Given the description of an element on the screen output the (x, y) to click on. 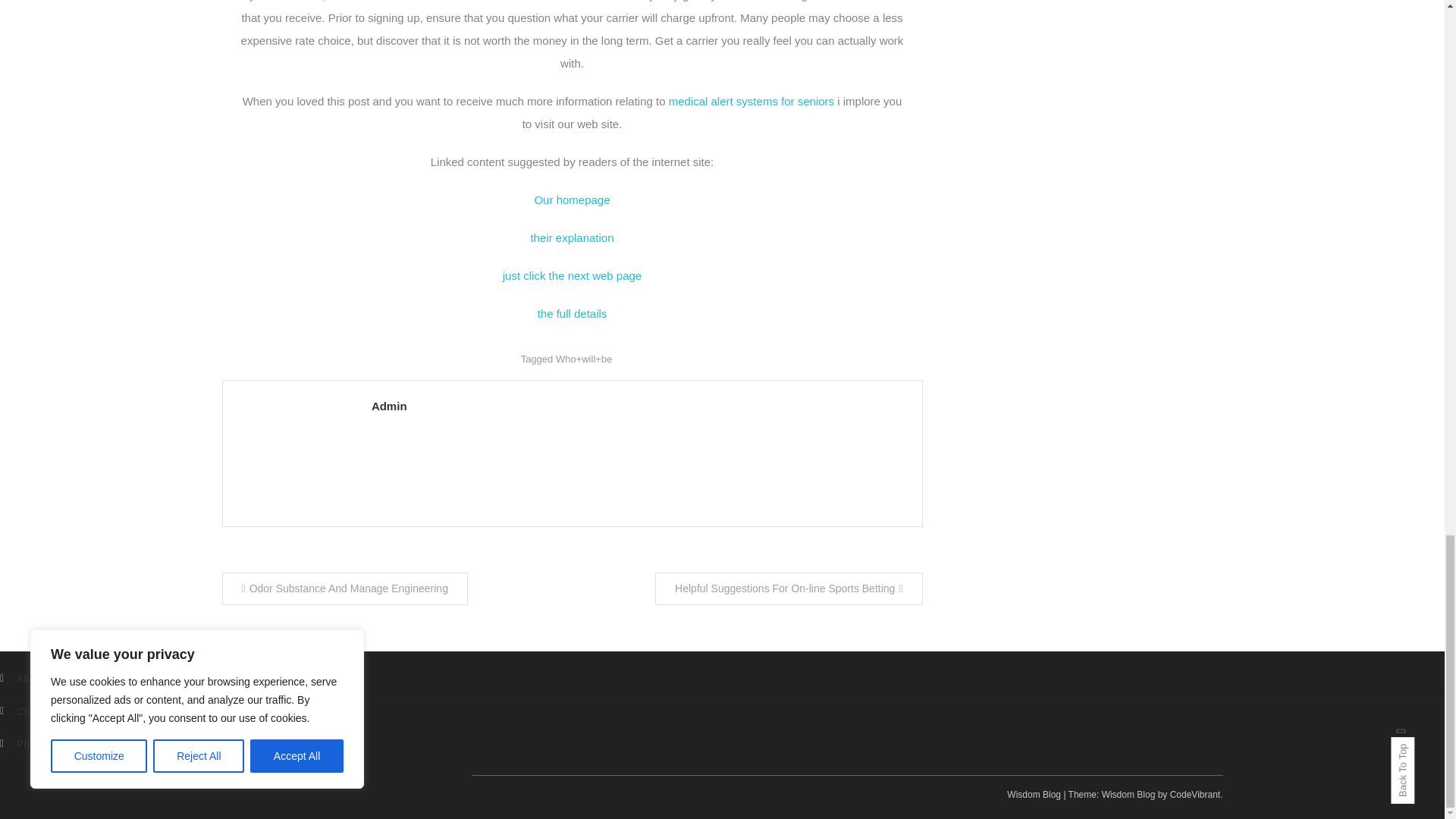
Helpful Suggestions For On-line Sports Betting (788, 588)
medical alert systems for seniors (751, 101)
Our homepage (572, 199)
Admin (639, 405)
the full details (572, 313)
residence (452, 0)
just click the next web page (572, 275)
Odor Substance And Manage Engineering (344, 588)
their explanation (570, 237)
